Given the description of an element on the screen output the (x, y) to click on. 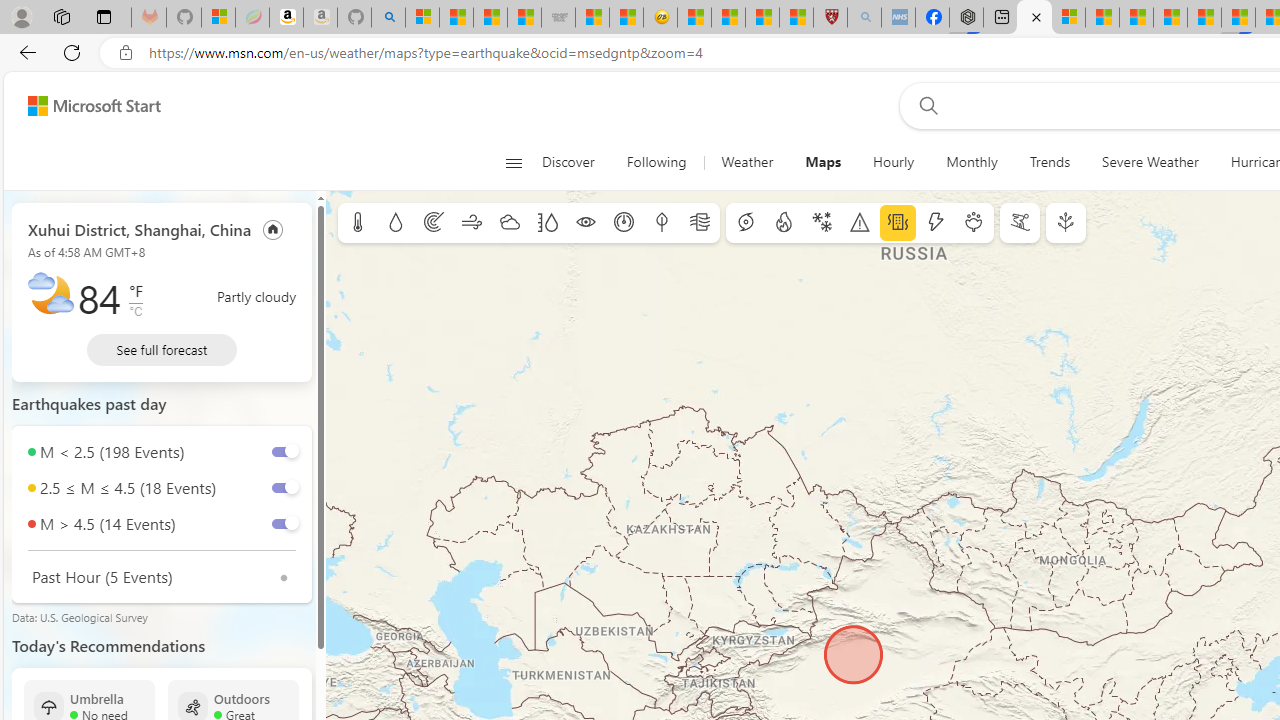
Discover (575, 162)
Science - MSN (762, 17)
Skip to content (86, 105)
Humidity (547, 223)
Microsoft-Report a Concern to Bing (218, 17)
Web search (924, 105)
